Given the description of an element on the screen output the (x, y) to click on. 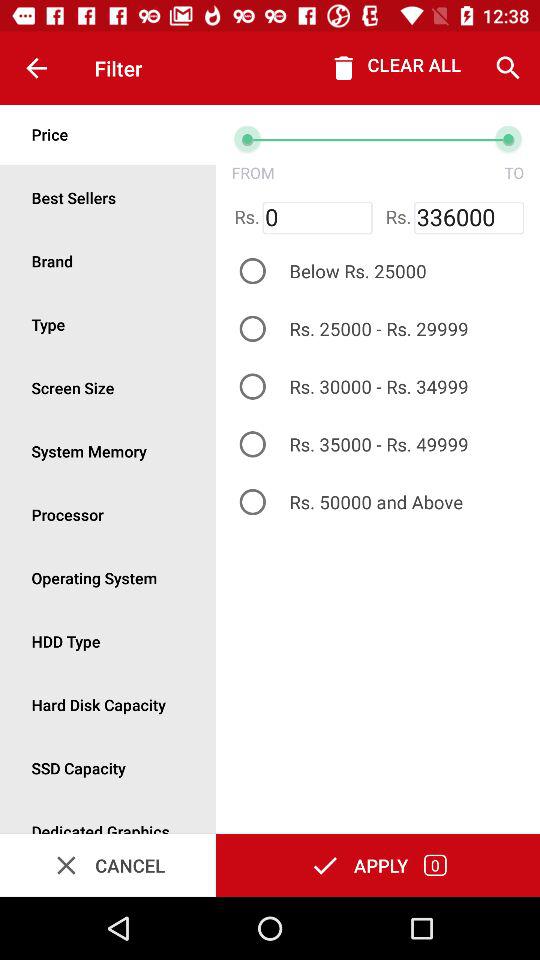
tap item next to the filter (36, 68)
